Given the description of an element on the screen output the (x, y) to click on. 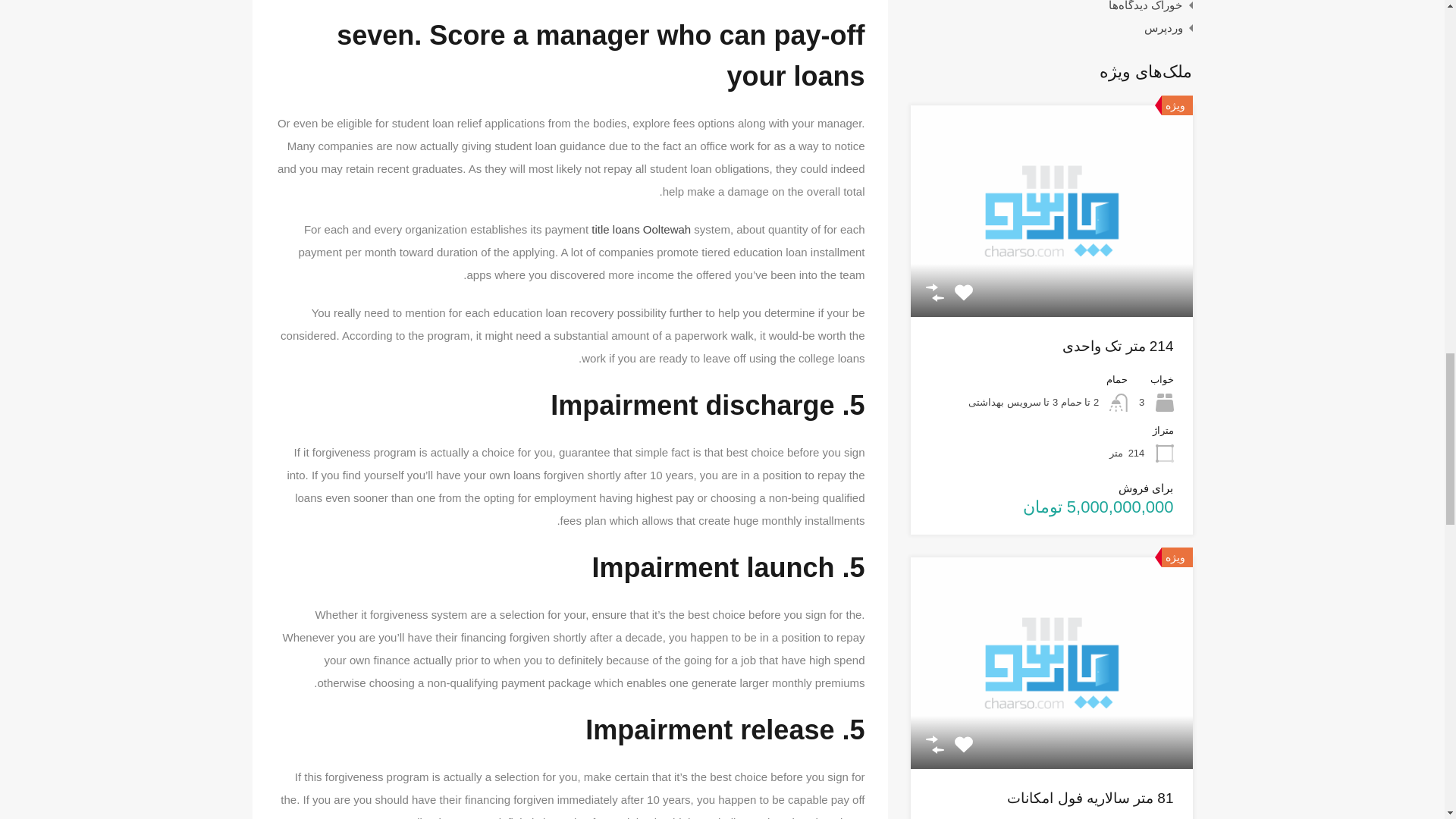
title loans Ooltewah (640, 228)
